Given the description of an element on the screen output the (x, y) to click on. 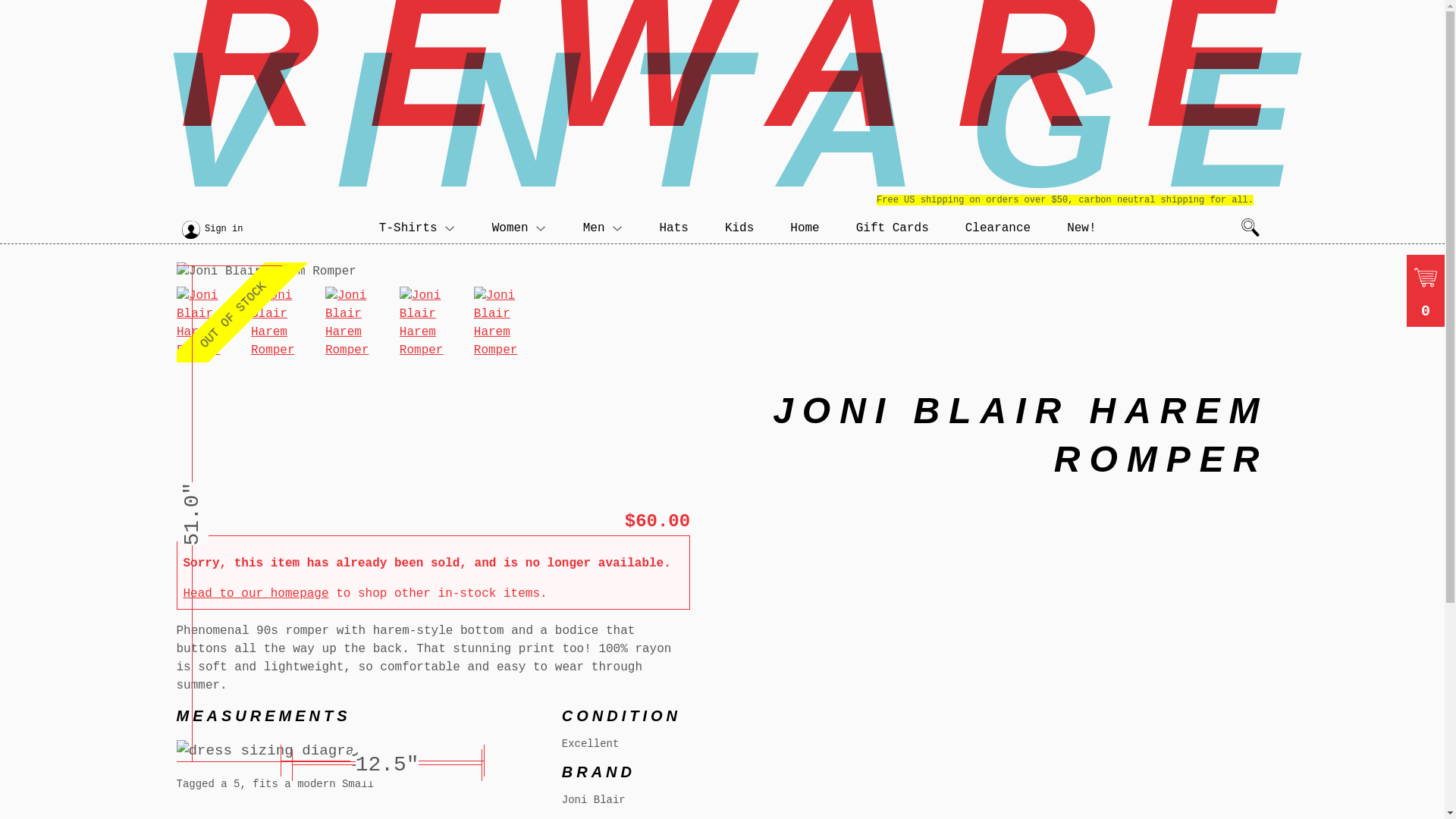
Top of neck to bottom hem (424, 281)
T-Shirts (417, 228)
Women (519, 228)
Pit to pit (382, 760)
Waist (386, 765)
Sign in (224, 229)
